Given the description of an element on the screen output the (x, y) to click on. 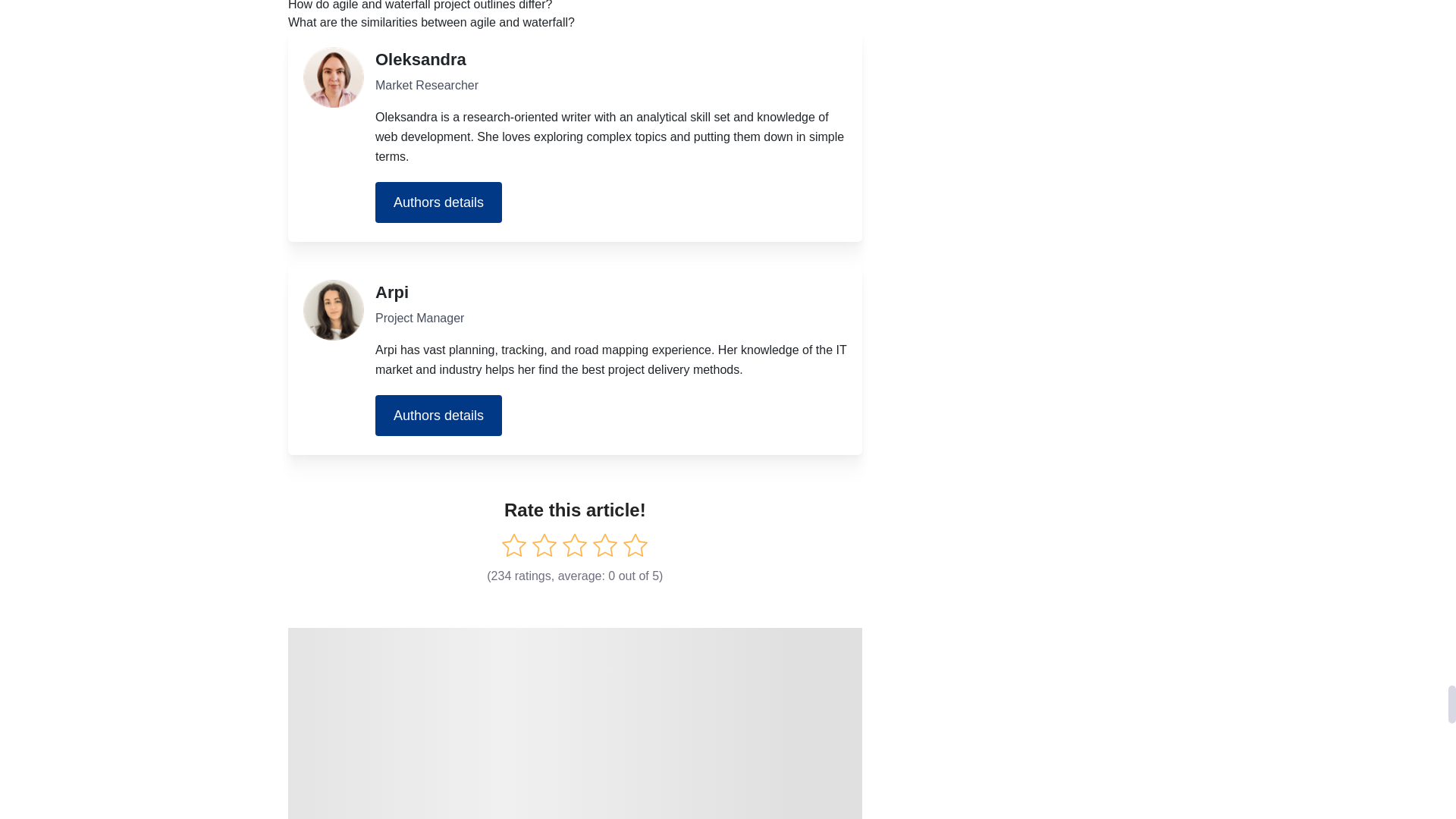
Arpi Project Manager (333, 310)
Rate this article (544, 545)
Rate this article (513, 545)
Oleksandra Market Researcher (333, 76)
Rate this article (574, 545)
